Given the description of an element on the screen output the (x, y) to click on. 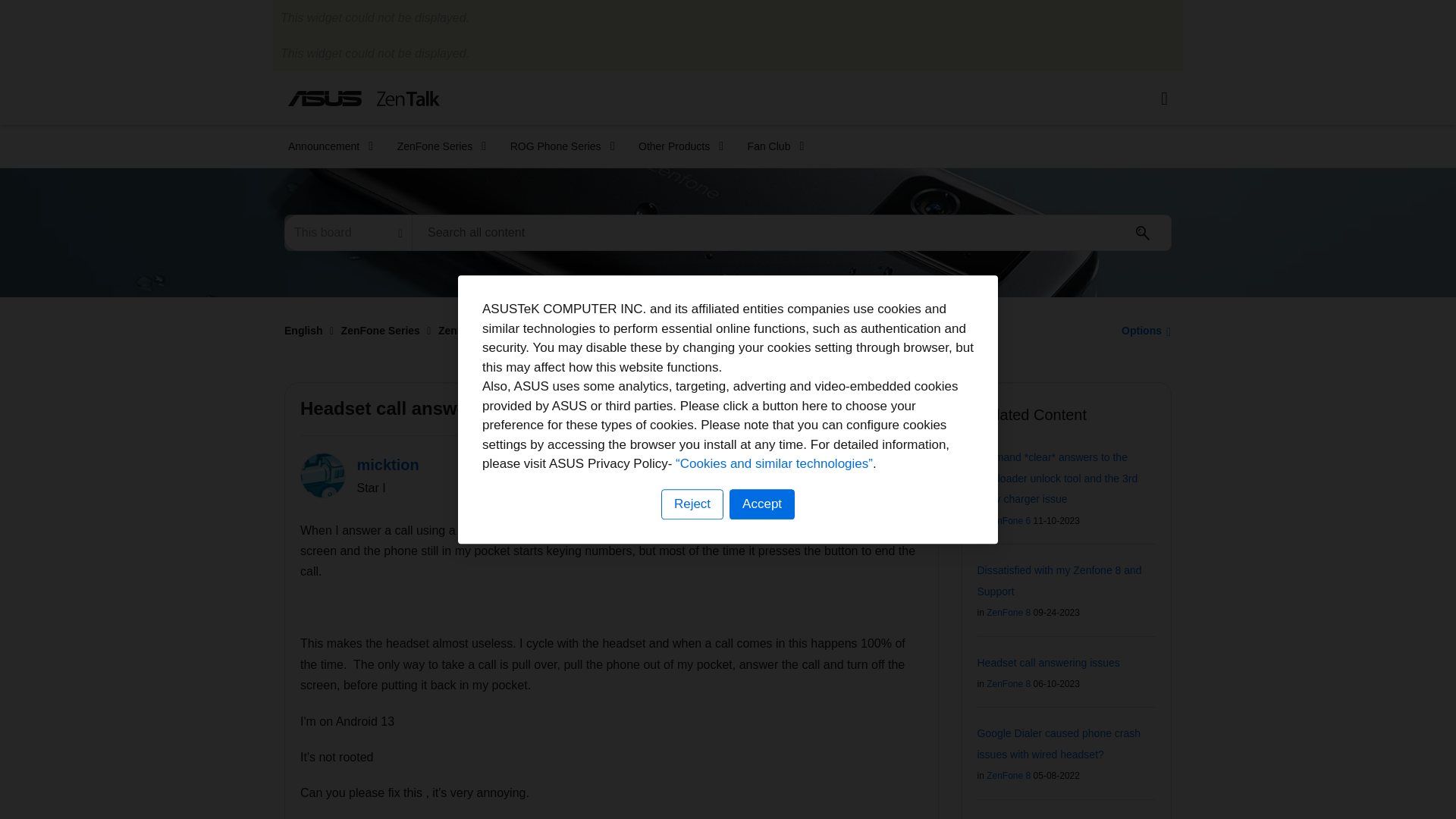
Search (1142, 232)
Search Granularity (347, 232)
Show option menu (1142, 330)
ZenFone Series (436, 146)
Search (792, 232)
ROG Phone Series (557, 146)
micktion (322, 474)
Announcement (325, 146)
ASUS - ZenTalk (363, 97)
Search (1142, 232)
Other Products (676, 146)
